Given the description of an element on the screen output the (x, y) to click on. 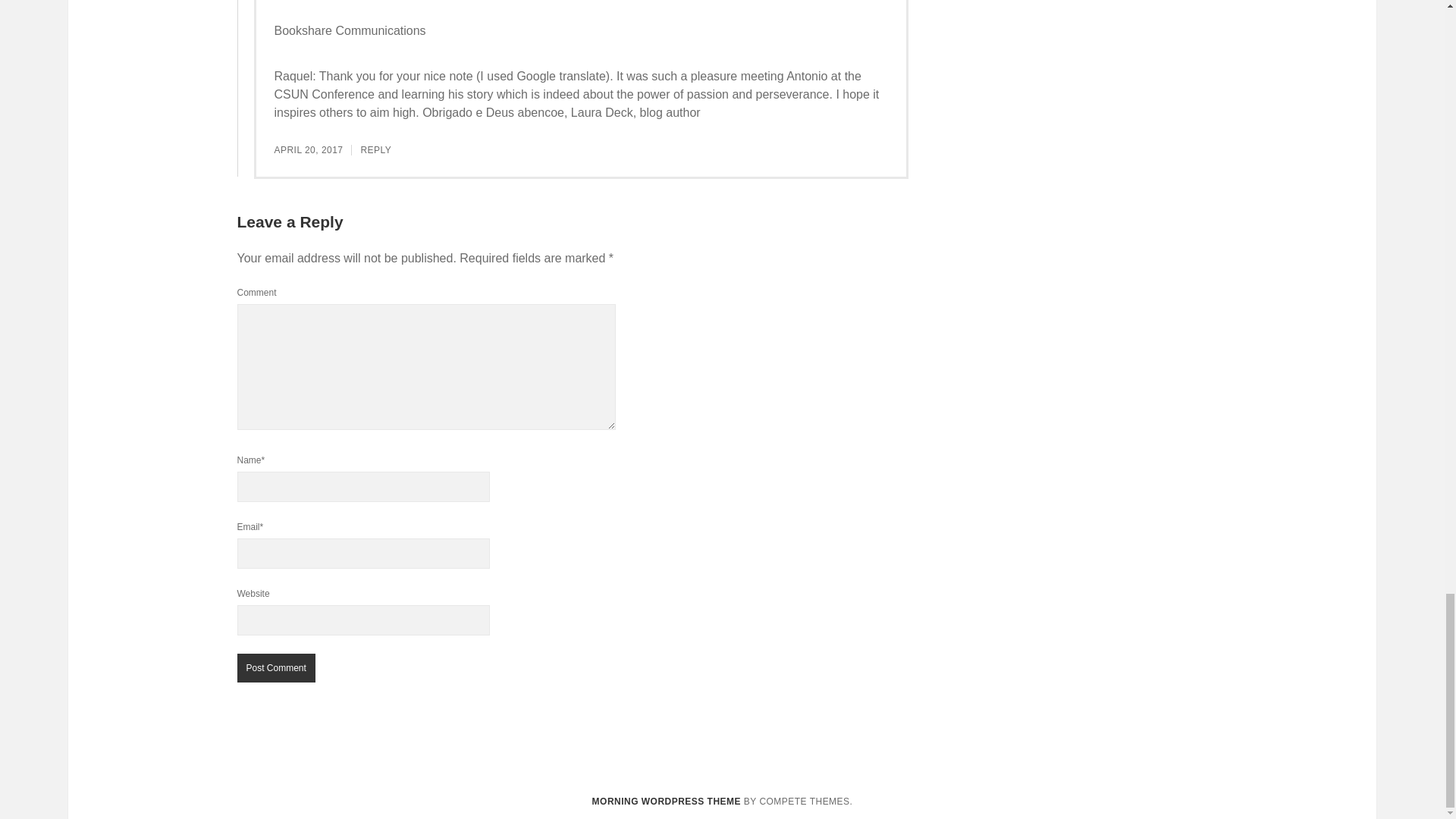
Post Comment (274, 667)
REPLY (375, 149)
Post Comment (274, 667)
